Given the description of an element on the screen output the (x, y) to click on. 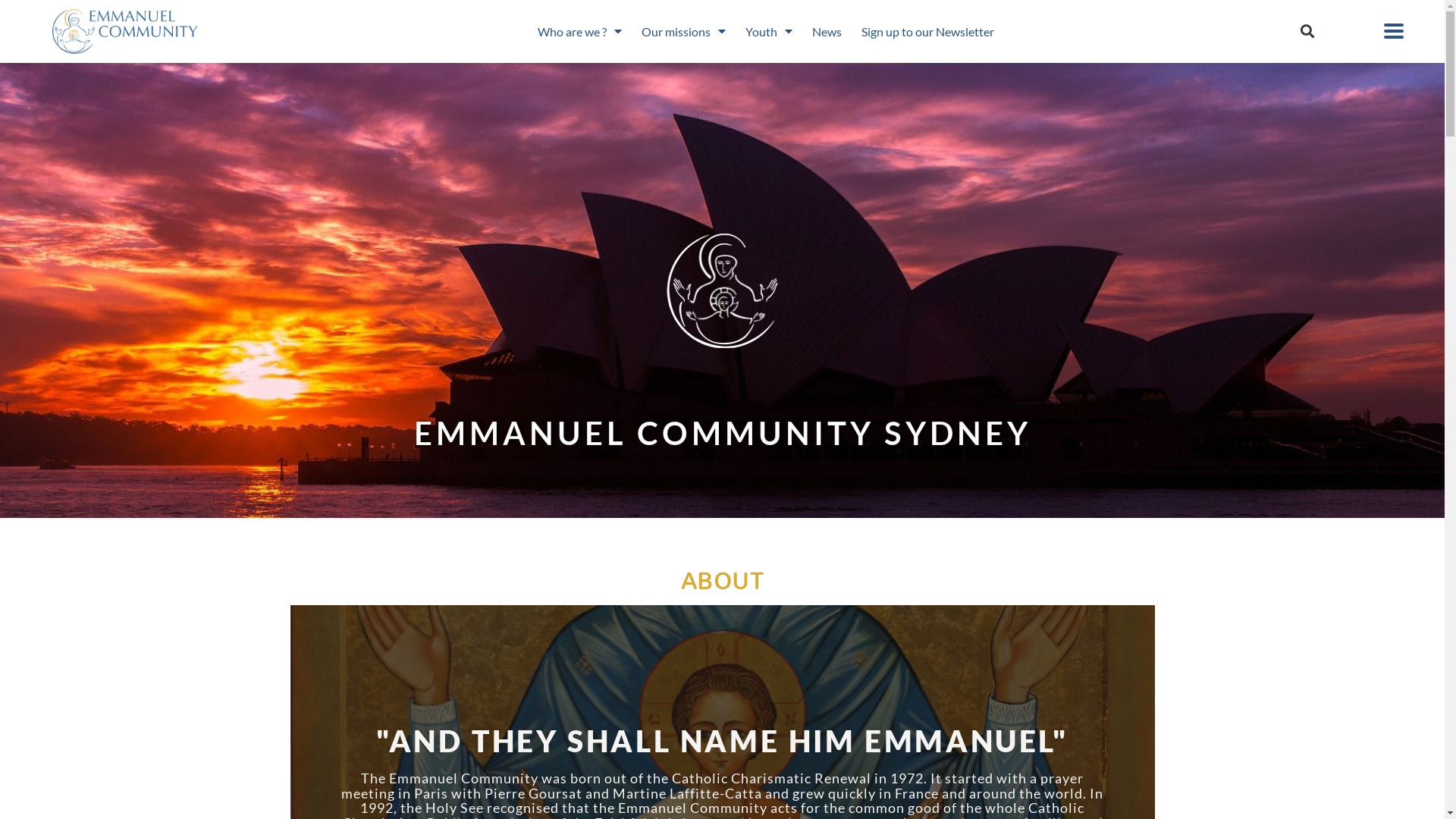
Youth Element type: text (768, 31)
Who are we ? Element type: text (579, 31)
Our missions Element type: text (683, 31)
News Element type: text (826, 31)
Sign up to our Newsletter Element type: text (927, 31)
